Given the description of an element on the screen output the (x, y) to click on. 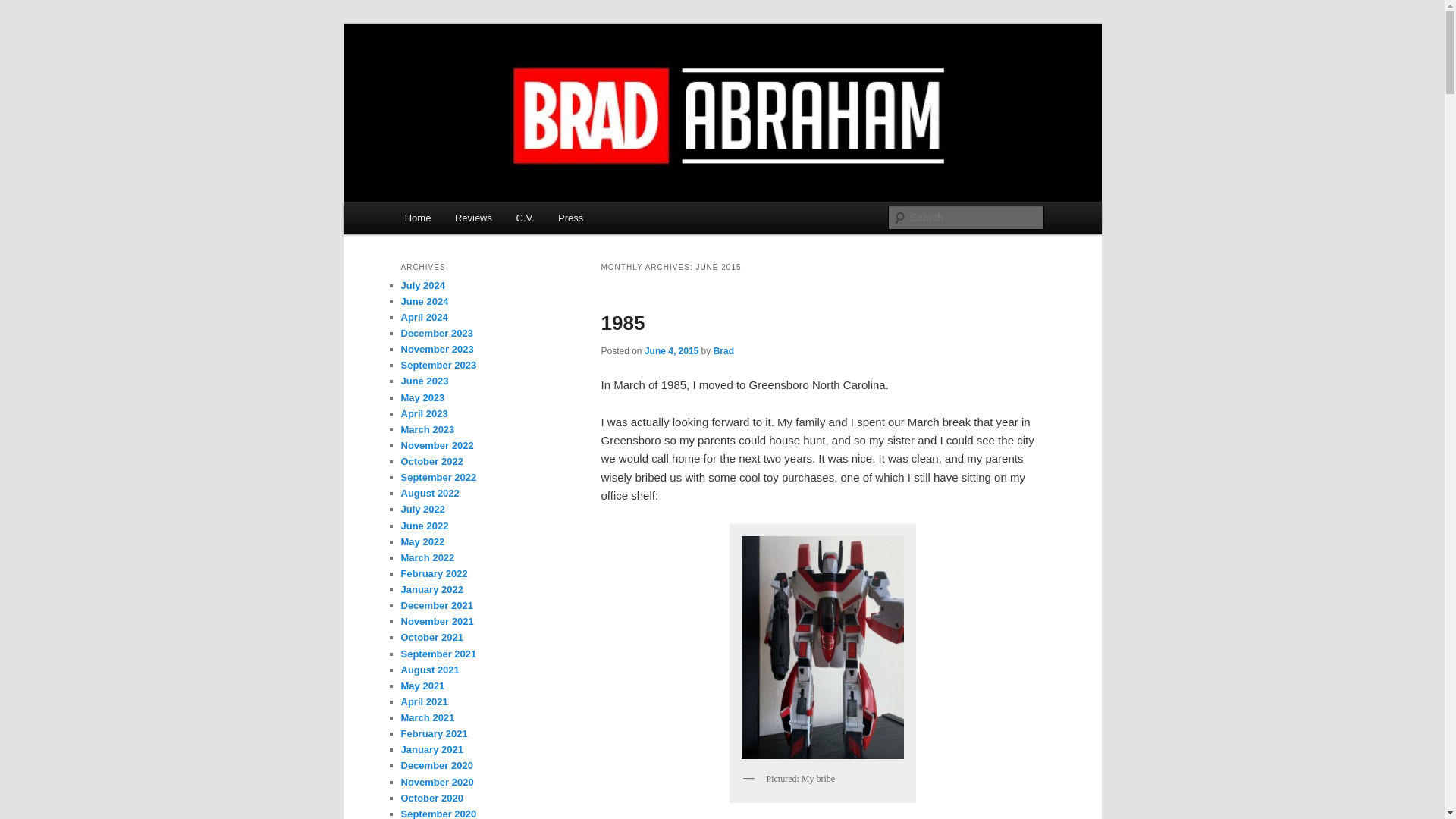
C.V. (525, 217)
December 2023 (435, 333)
September 2022 (438, 477)
June 2024 (424, 301)
April 2024 (423, 317)
Reviews (472, 217)
View all posts by Brad (723, 350)
May 2022 (422, 541)
November 2023 (436, 348)
